Given the description of an element on the screen output the (x, y) to click on. 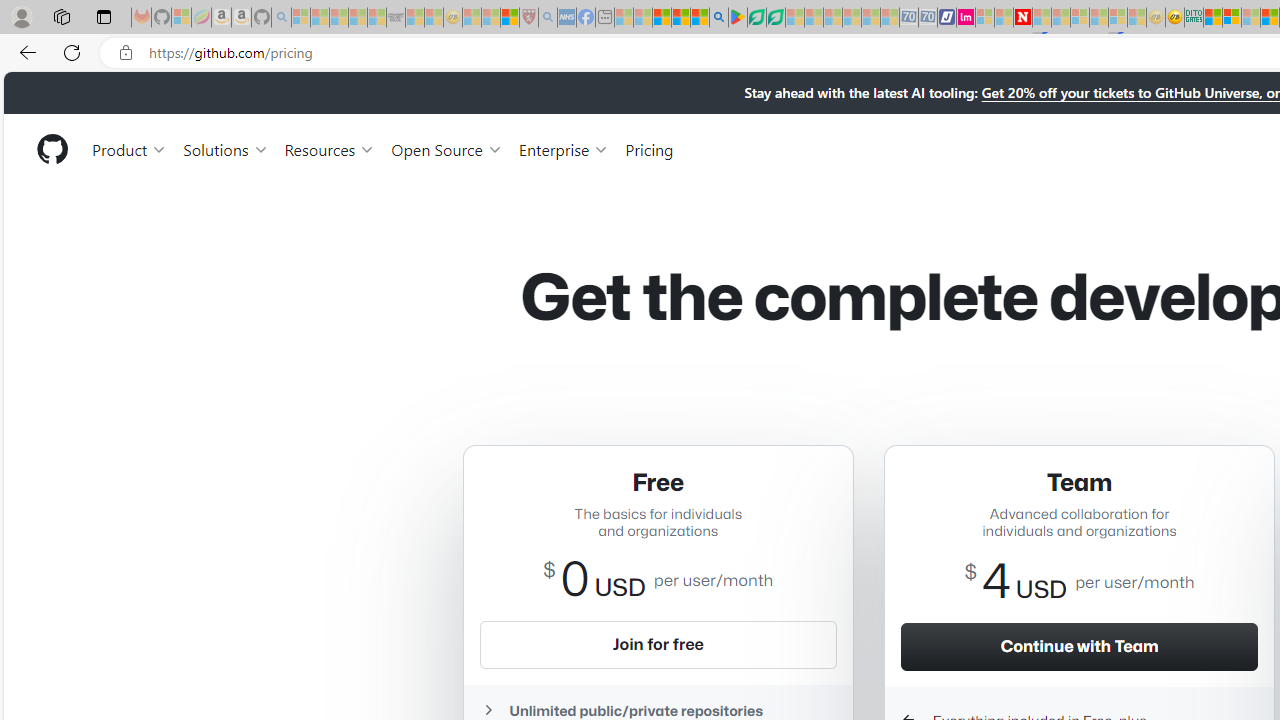
Pets - MSN (680, 17)
Join for free (657, 643)
Jobs - lastminute.com Investor Portal (966, 17)
Terms of Use Agreement (756, 17)
Solutions (225, 148)
